Given the description of an element on the screen output the (x, y) to click on. 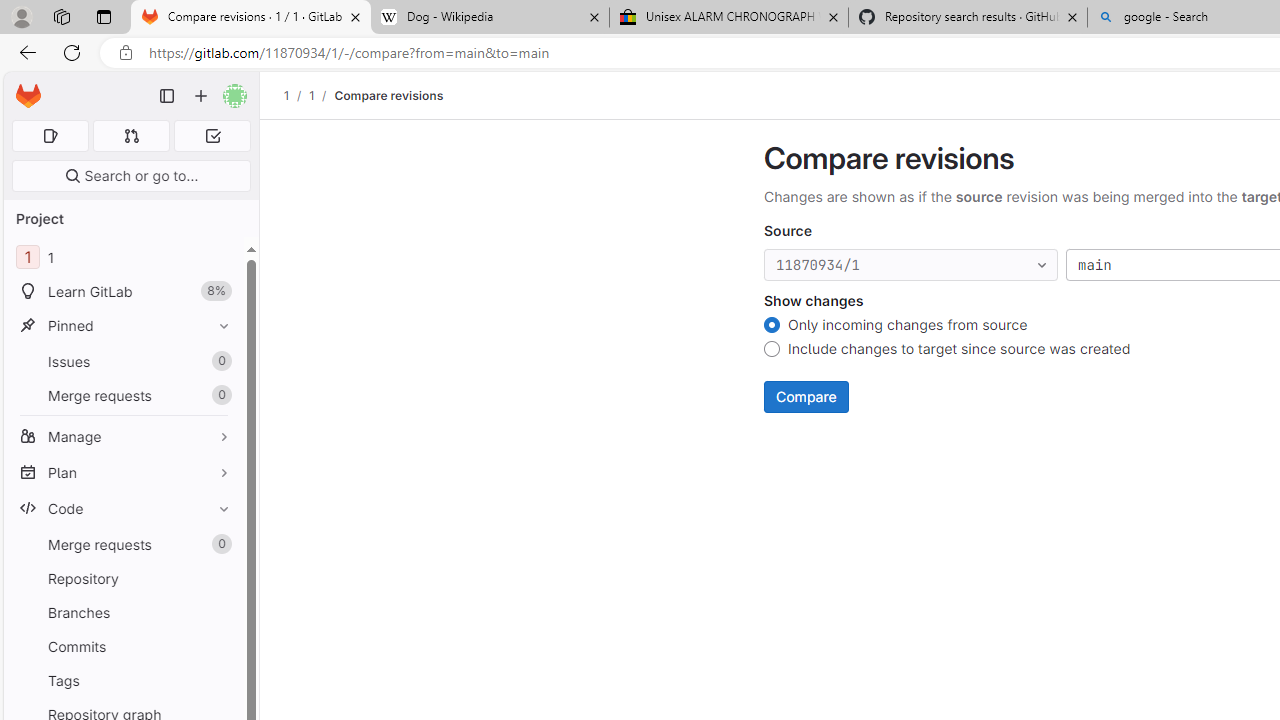
Pin Tags (219, 680)
Only incoming changes from source (771, 326)
Merge requests 0 (123, 543)
Commits (123, 646)
Merge requests0 (123, 543)
Pin Branches (219, 611)
11870934/1 (911, 265)
Pin Commits (219, 646)
Compare (806, 396)
Commits (123, 646)
Issues0 (123, 361)
